Given the description of an element on the screen output the (x, y) to click on. 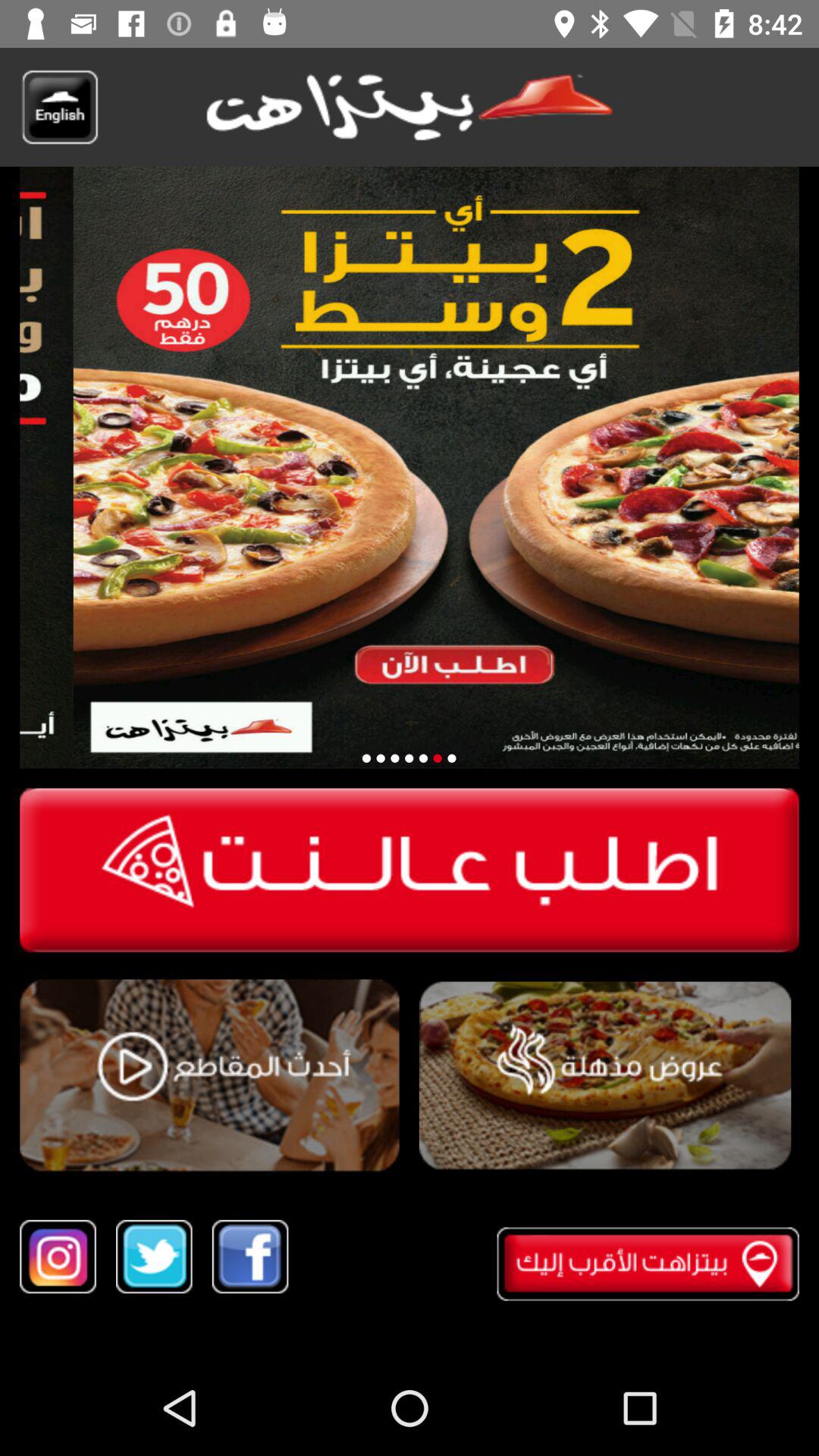
next details (451, 758)
